Given the description of an element on the screen output the (x, y) to click on. 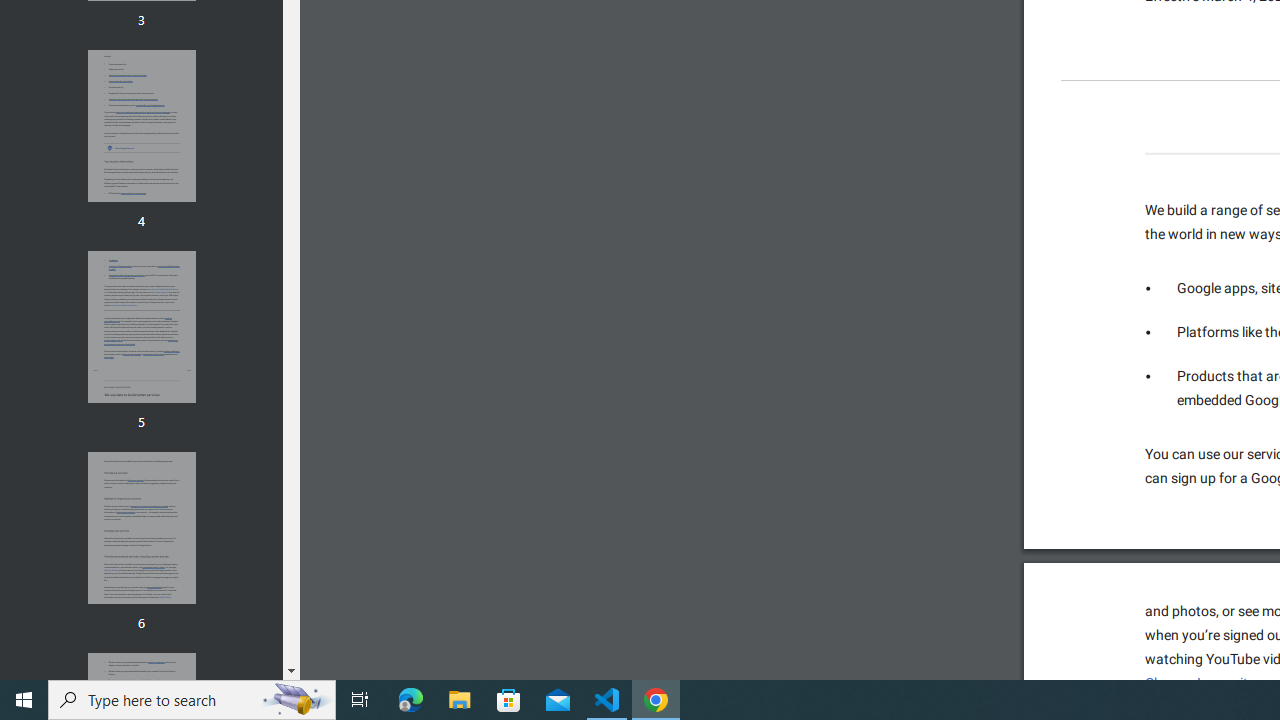
Thumbnail for page 4 (141, 125)
Thumbnail for page 6 (141, 528)
AutomationID: thumbnail (141, 528)
Thumbnail for page 5 (141, 326)
Chrome Incognito (1200, 683)
